Given the description of an element on the screen output the (x, y) to click on. 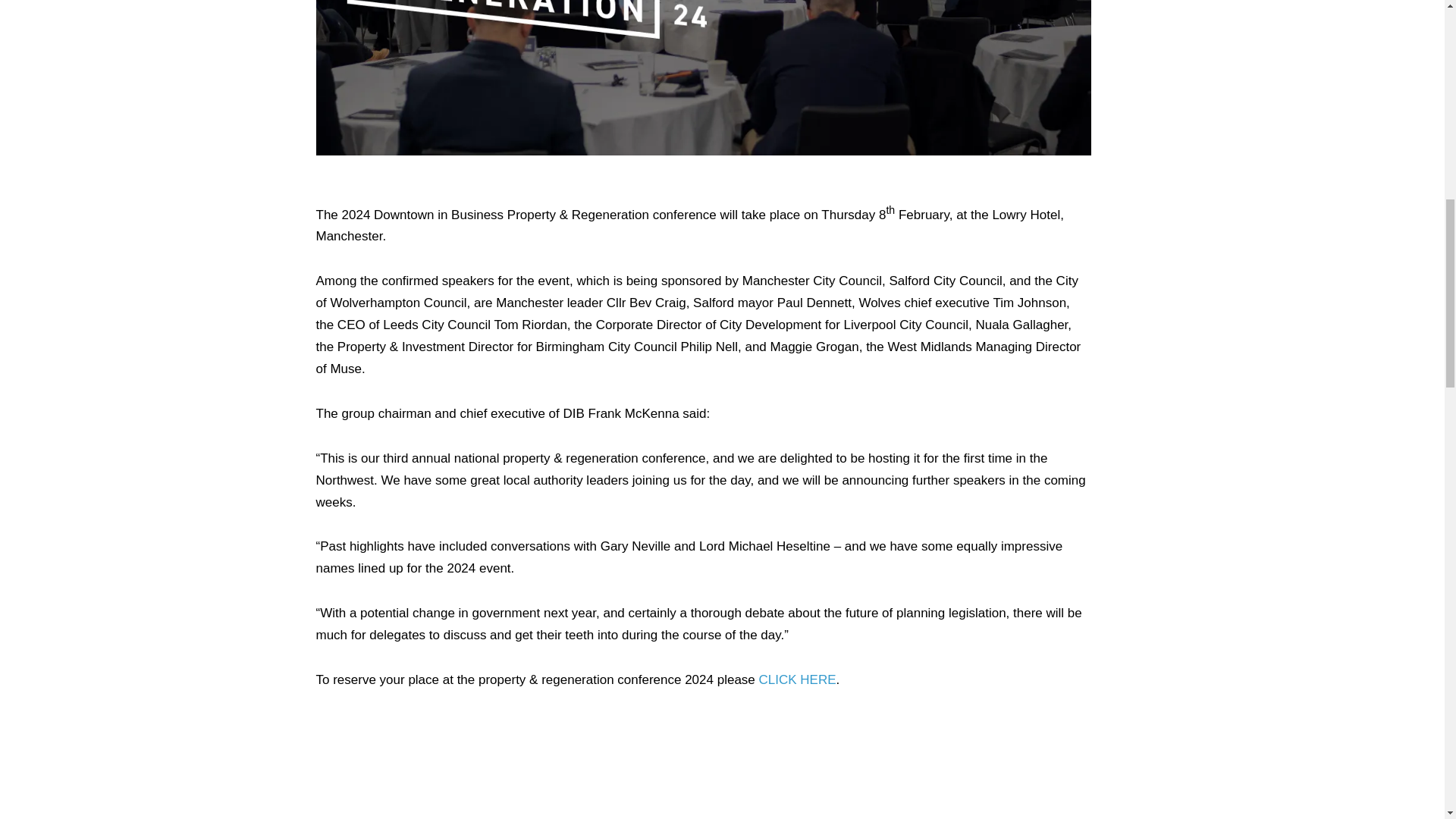
CLICK HERE (796, 679)
